Given the description of an element on the screen output the (x, y) to click on. 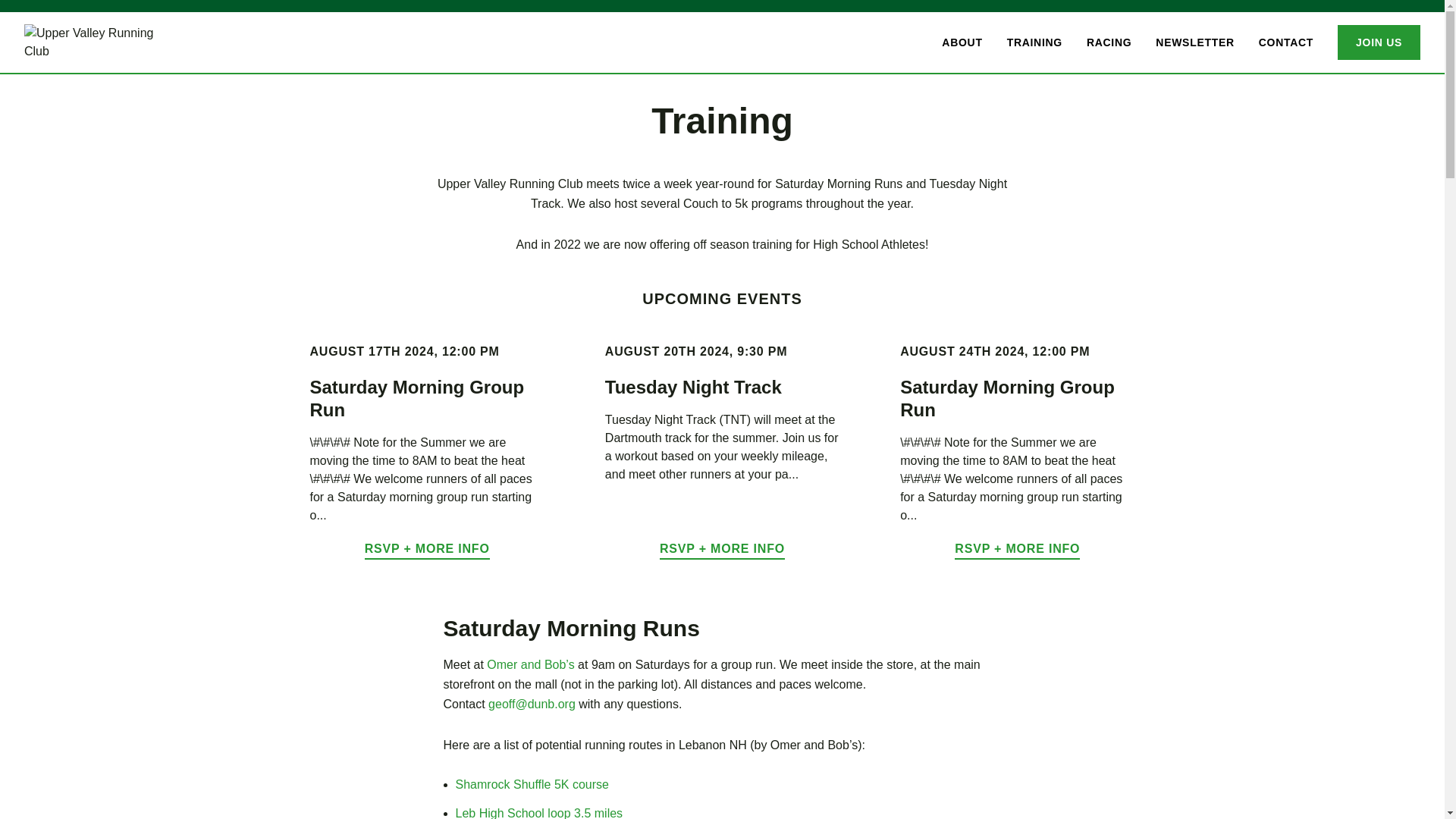
Shamrock Shuffle 5K course (531, 784)
CONTACT (1286, 41)
JOIN US (1379, 42)
RACING (1108, 41)
NEWSLETTER (1194, 41)
ABOUT (961, 41)
TRAINING (1034, 41)
Leb High School loop 3.5 miles (538, 812)
